Given the description of an element on the screen output the (x, y) to click on. 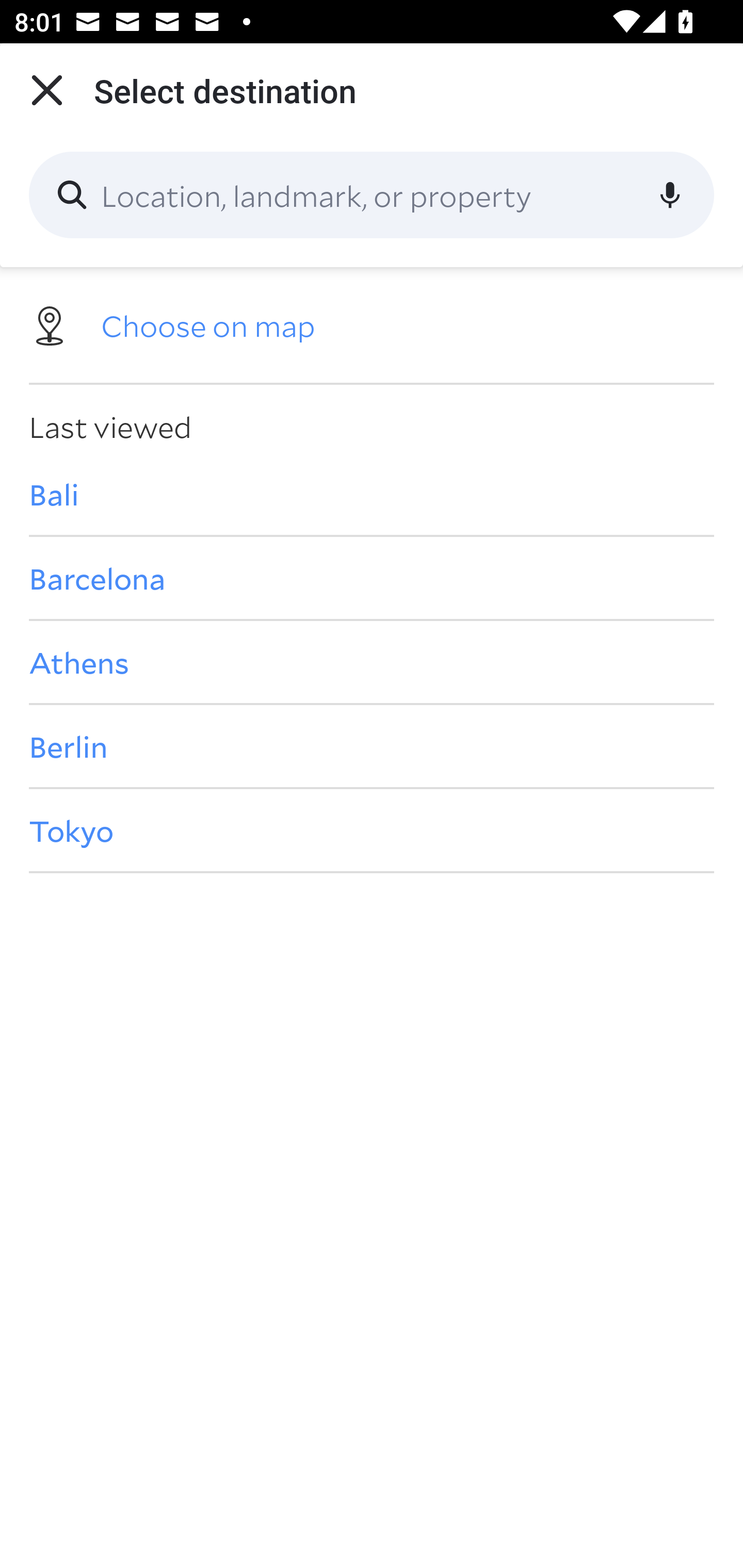
Location, landmark, or property (371, 195)
Choose on map (371, 324)
Bali (371, 493)
Barcelona (371, 577)
Athens (371, 661)
Berlin (371, 746)
Tokyo (371, 829)
